Given the description of an element on the screen output the (x, y) to click on. 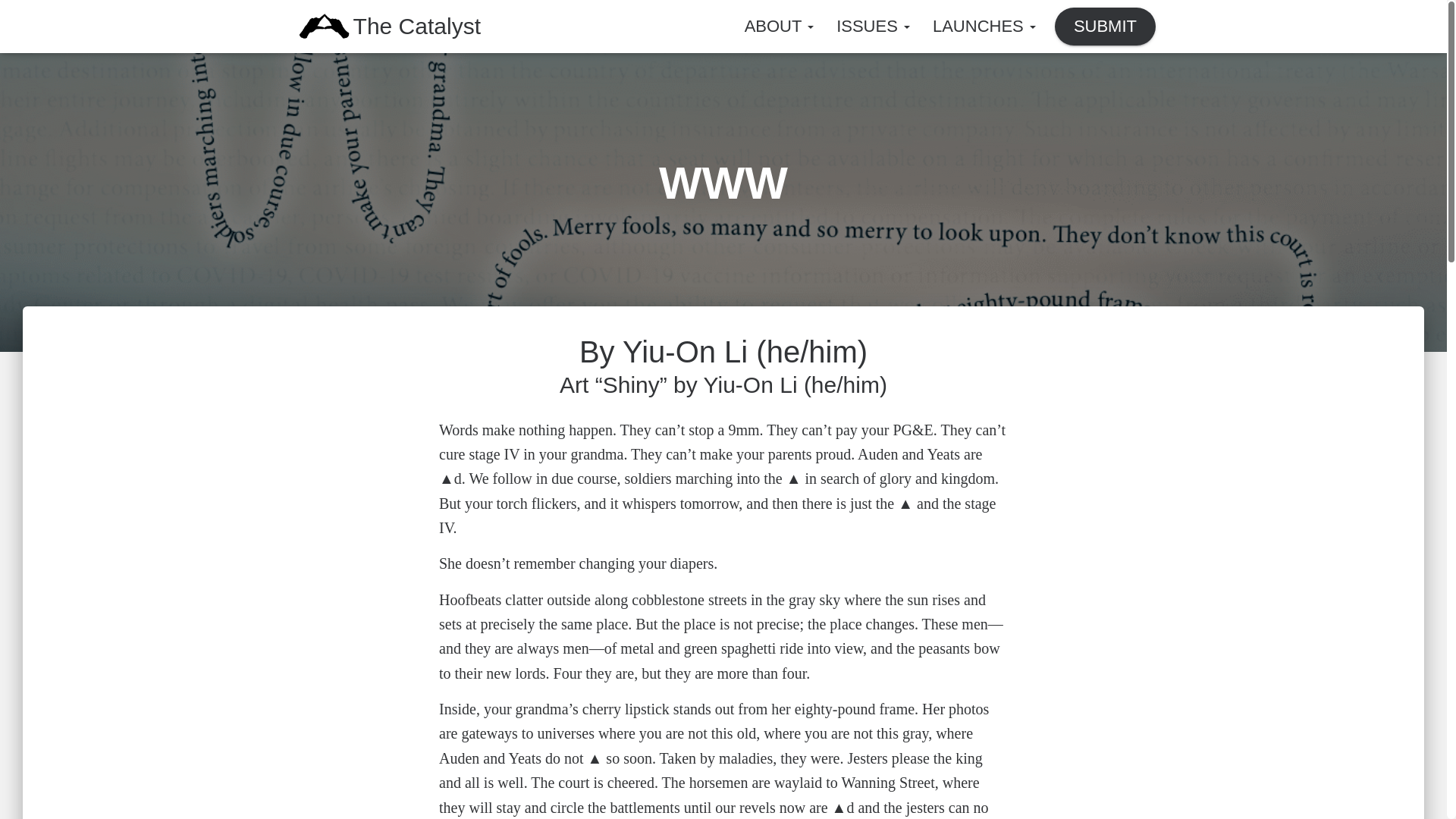
Launches (983, 26)
ISSUES (873, 26)
Issues (873, 26)
LAUNCHES (983, 26)
The Catalyst (323, 26)
ABOUT (779, 26)
SUBMIT (1105, 26)
Submit (1105, 26)
About (779, 26)
